Given the description of an element on the screen output the (x, y) to click on. 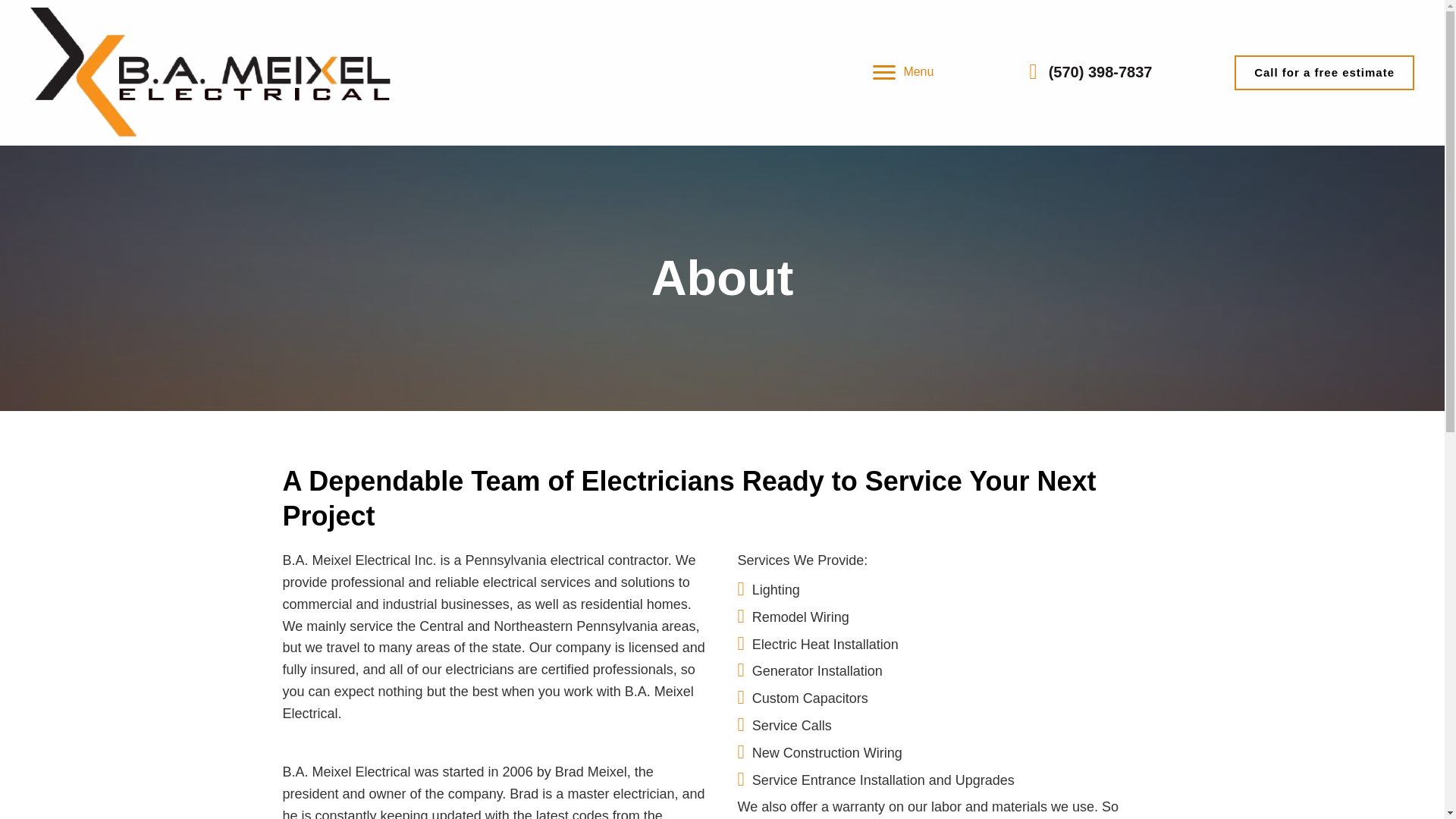
logo (210, 72)
Menu (902, 72)
Call for a free estimate (1323, 72)
